Given the description of an element on the screen output the (x, y) to click on. 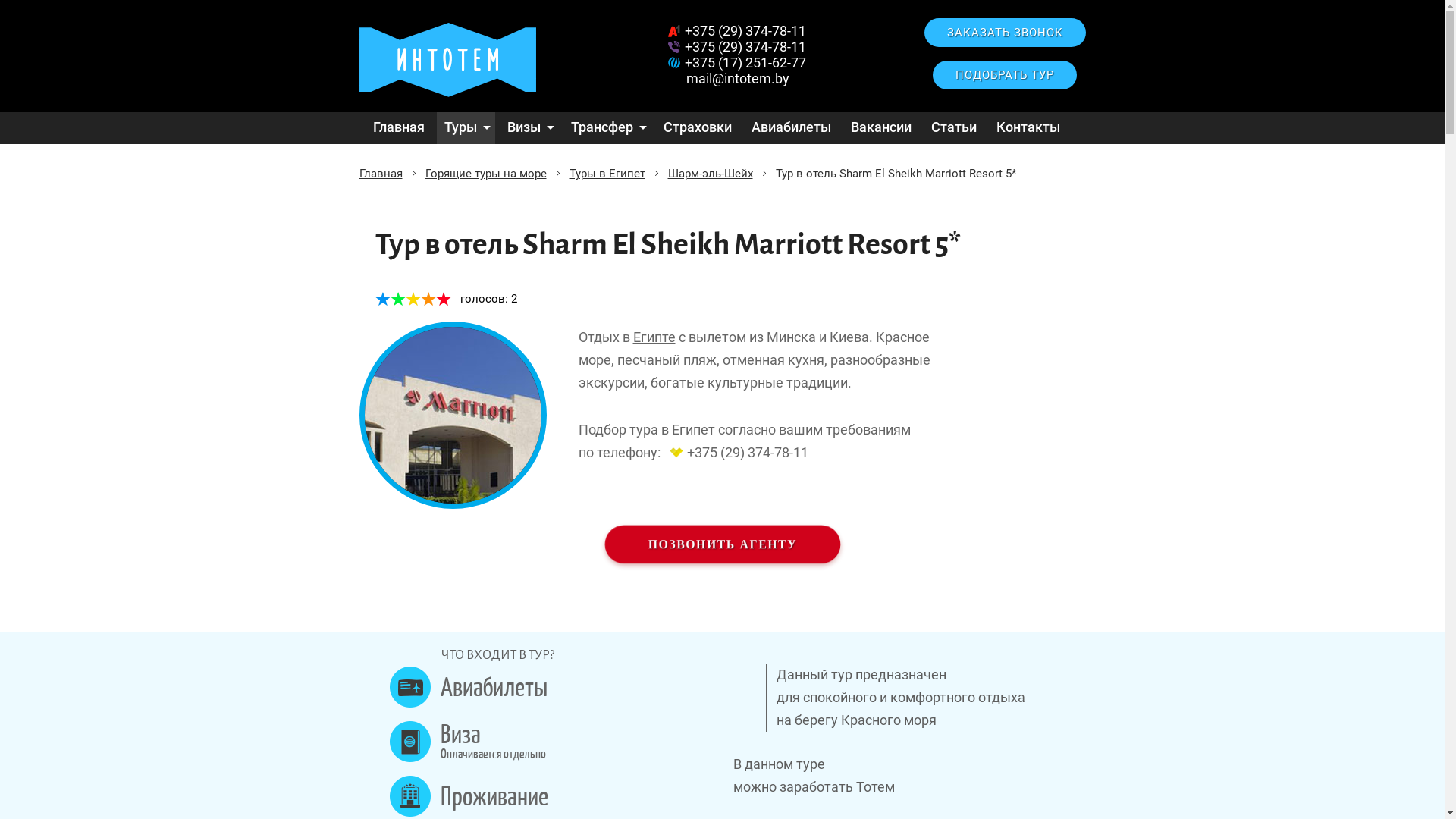
+375 (17) 251-62-77 Element type: text (733, 62)
+375 (29) 374-78-11 Element type: text (733, 30)
+375 (29) 374-78-11 Element type: text (734, 452)
mail@intotem.by Element type: text (737, 78)
+375 (29) 374-78-11 Element type: text (733, 46)
